Given the description of an element on the screen output the (x, y) to click on. 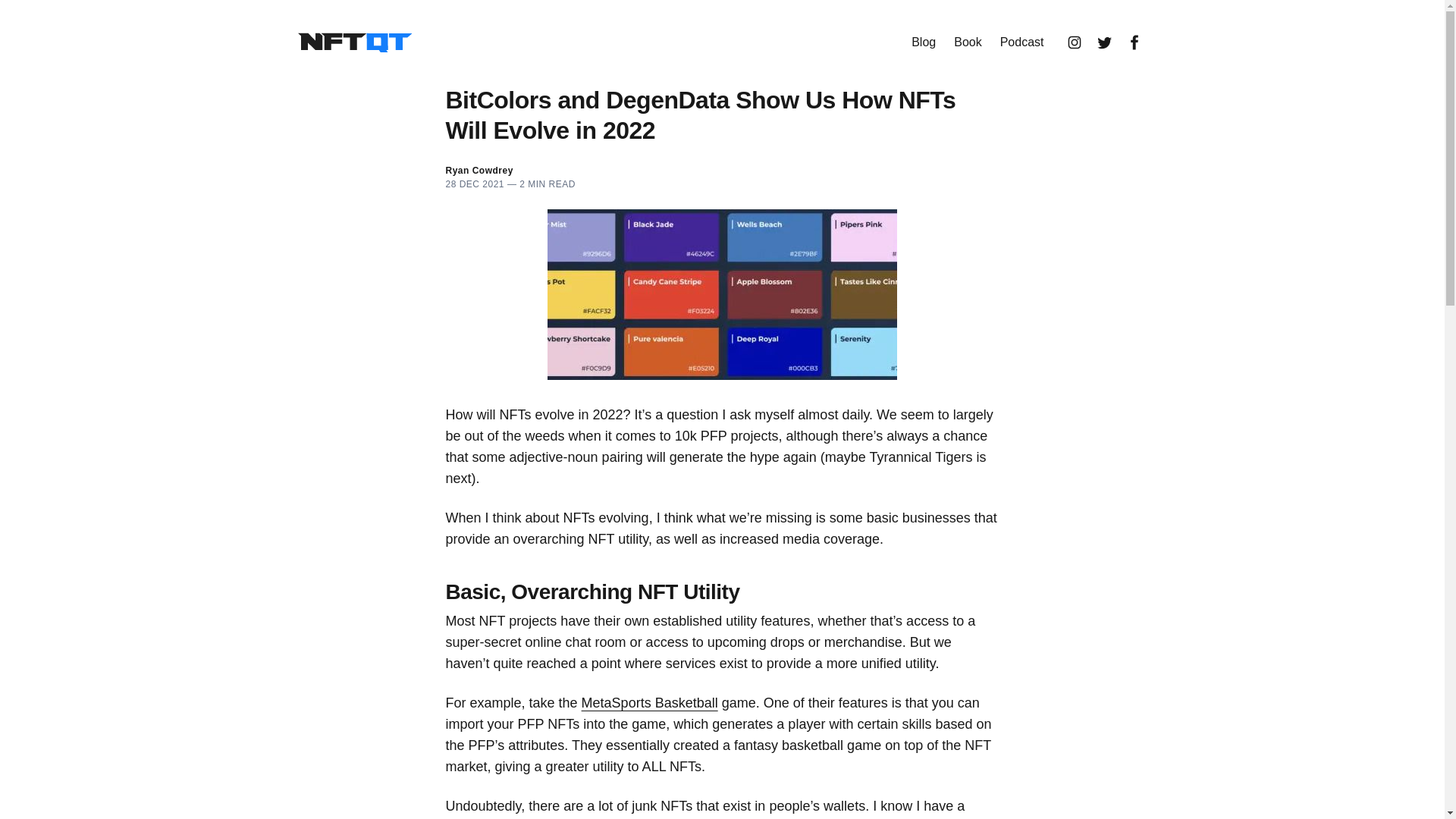
Blog (923, 42)
Instagram (1073, 42)
Book (967, 42)
MetaSports Basketball (648, 702)
Twitter (1104, 42)
Facebook (1134, 42)
Podcast (1021, 42)
